Given the description of an element on the screen output the (x, y) to click on. 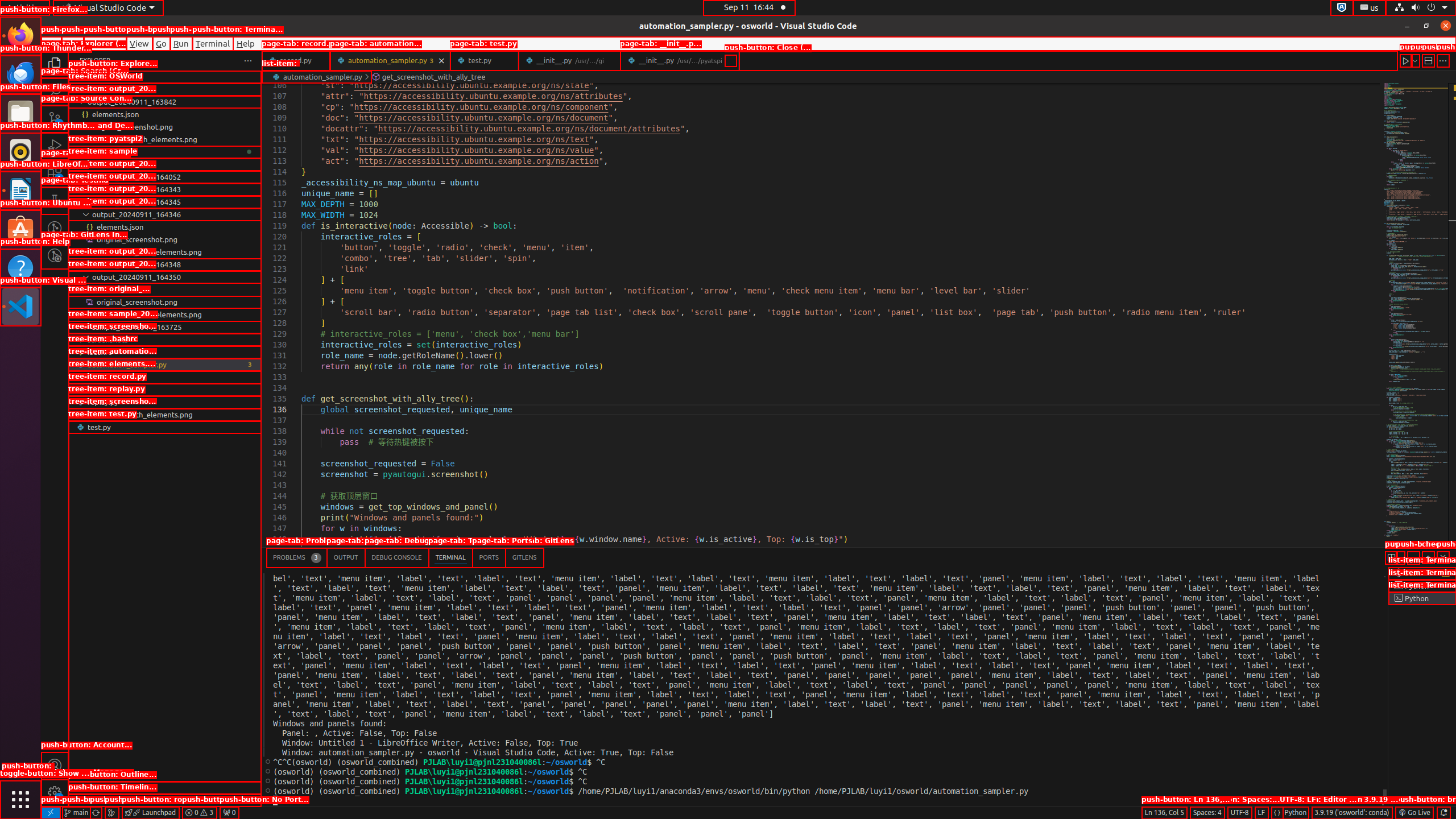
GitLens Element type: page-tab (524, 557)
Accounts Element type: push-button (54, 765)
Run or Debug... Element type: push-button (1414, 60)
__init__.py Element type: page-tab (679, 60)
Terminal 2 Python Element type: list-item (1422, 585)
